Given the description of an element on the screen output the (x, y) to click on. 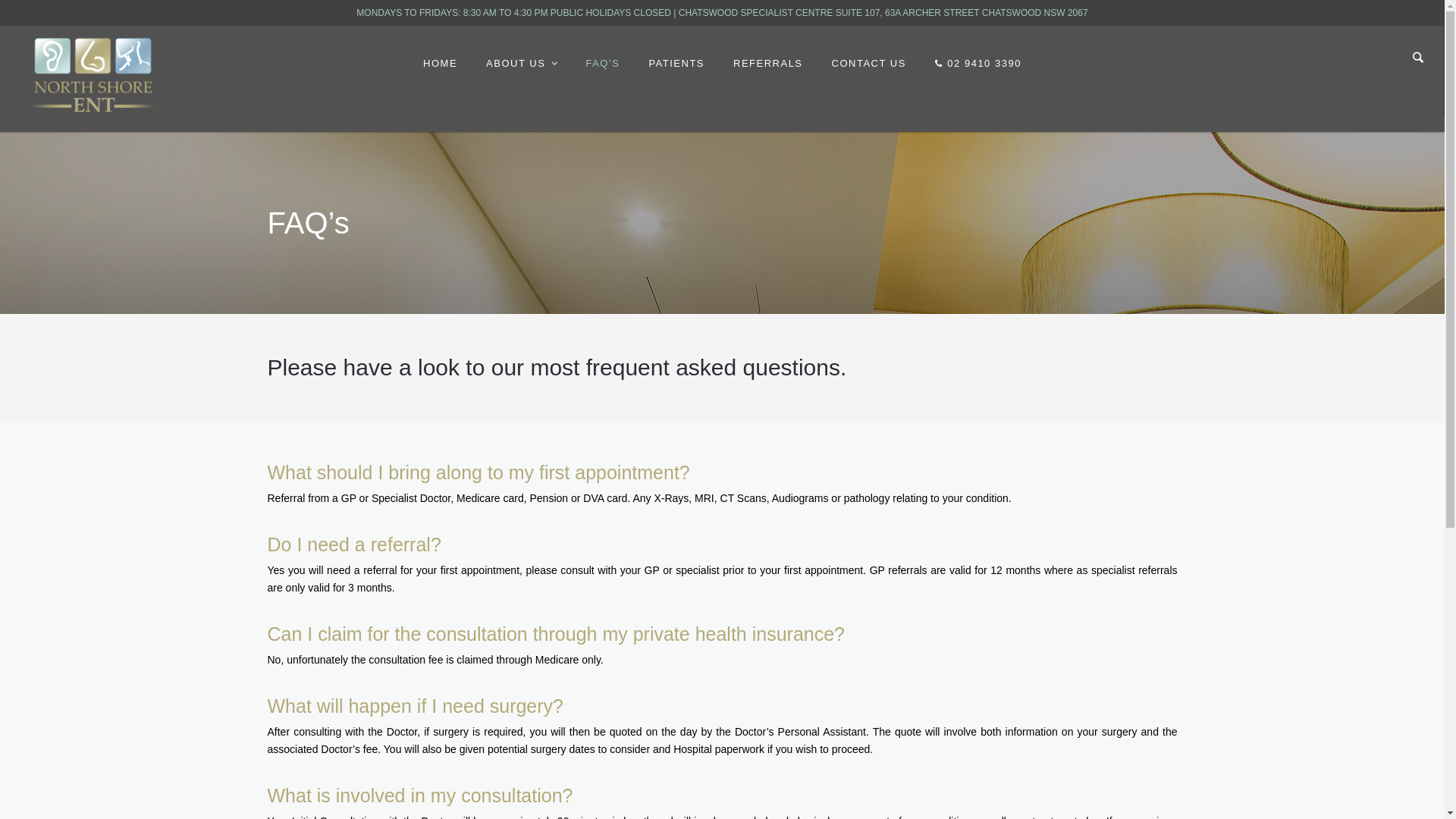
ABOUT US Element type: text (521, 63)
REFERRALS Element type: text (767, 63)
CONTACT US Element type: text (868, 63)
02 9410 3390 Element type: text (977, 63)
PATIENTS Element type: text (675, 63)
HOME Element type: text (439, 63)
North Shore ENT Element type: hover (92, 74)
